Given the description of an element on the screen output the (x, y) to click on. 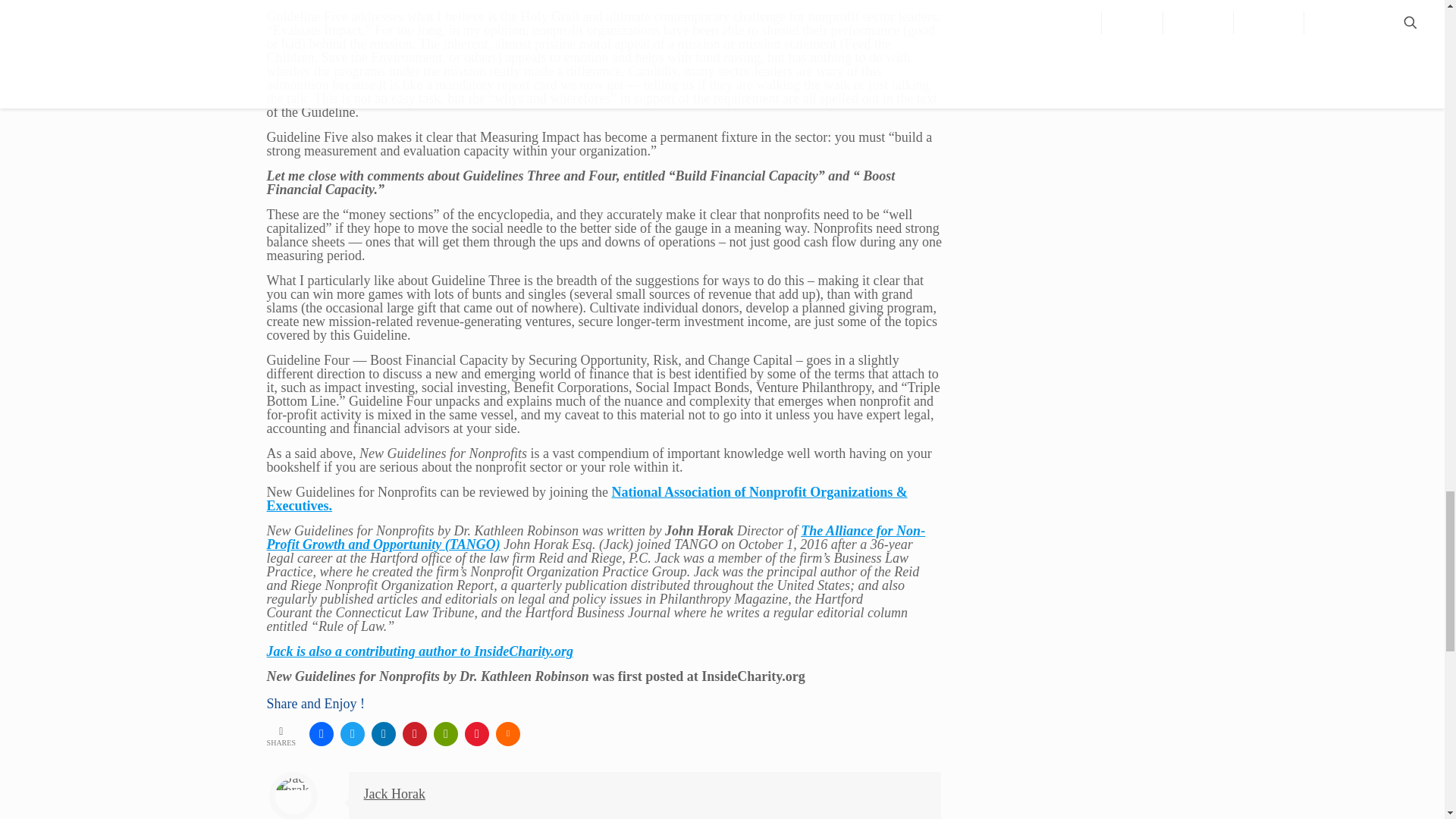
Jack Horak (394, 793)
Share this on Facebook (320, 733)
Print this article  (445, 733)
Convert to PDF (476, 733)
Submit this to Pinterest (414, 733)
Tweet this ! (352, 733)
Add this to LinkedIn (383, 733)
More share links (507, 733)
Jack is also a contributing author to InsideCharity.org (419, 651)
